Given the description of an element on the screen output the (x, y) to click on. 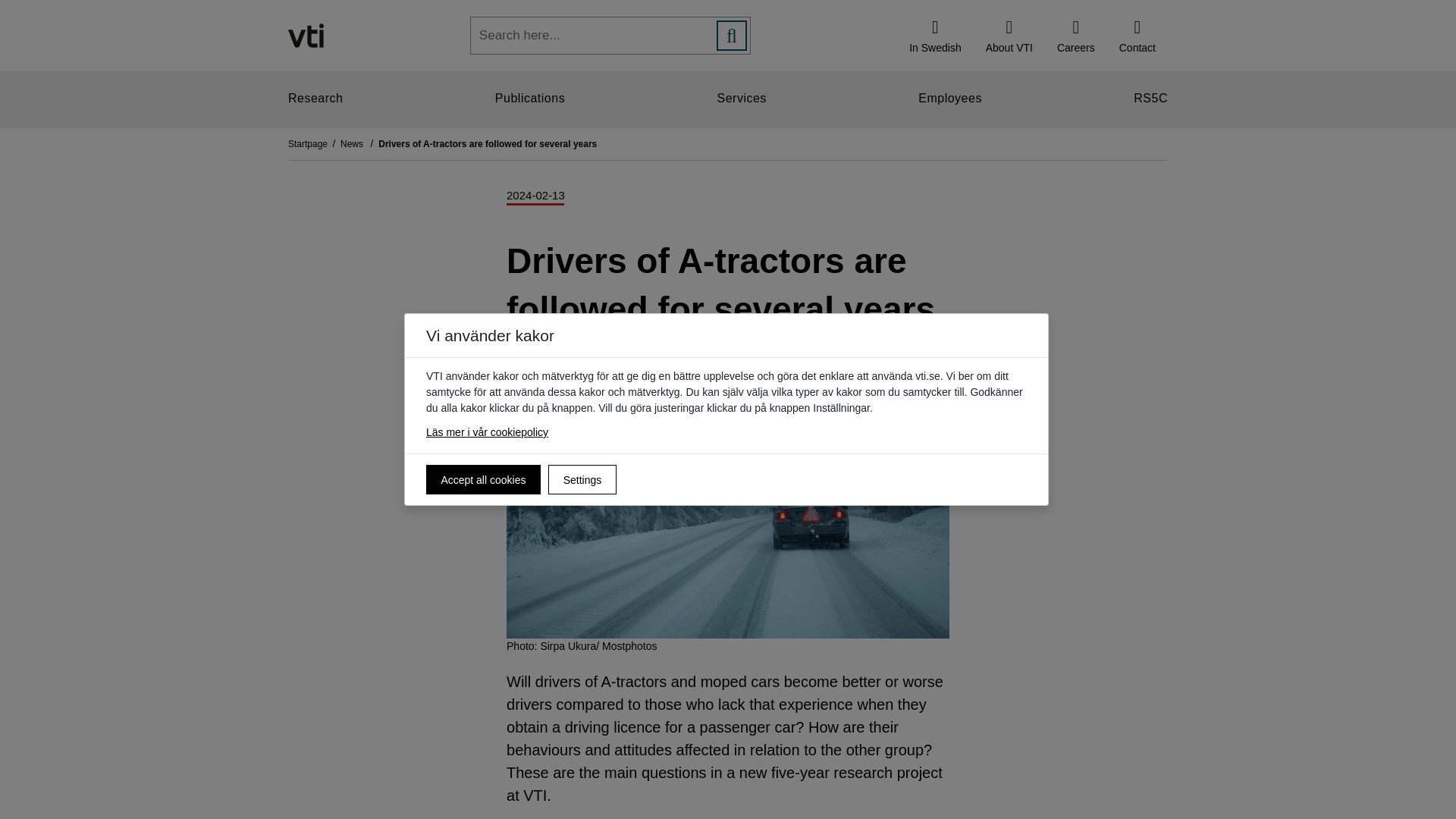
Startpage (314, 143)
Services (742, 99)
RS5C (1150, 99)
RS5C (1150, 99)
Drivers of A-tractors are followed for several years (487, 143)
Research (315, 99)
News (359, 143)
Publications (529, 99)
About VTI (1009, 35)
In Swedish (934, 35)
